Given the description of an element on the screen output the (x, y) to click on. 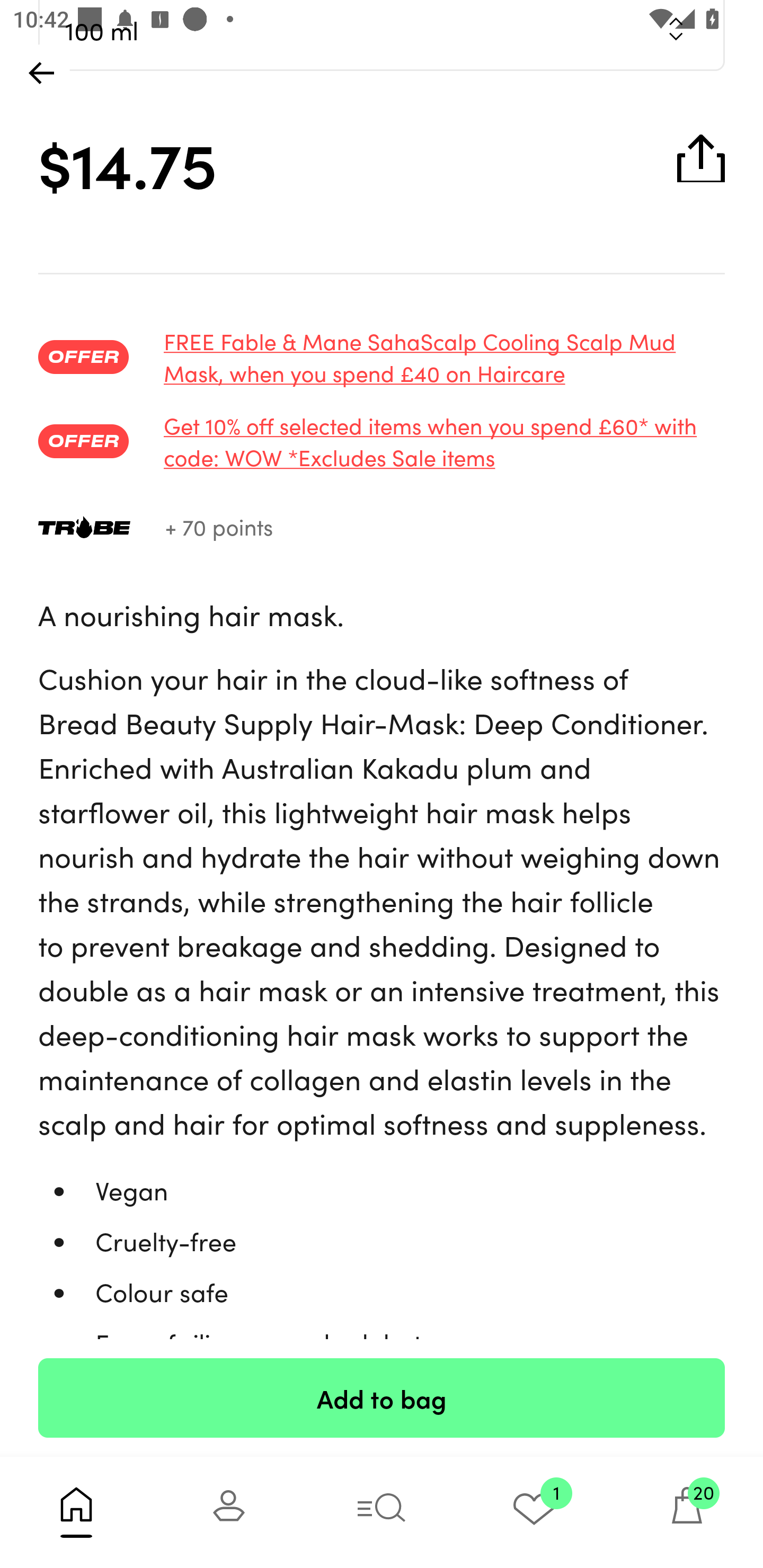
Add to bag (381, 1397)
1 (533, 1512)
20 (686, 1512)
